Given the description of an element on the screen output the (x, y) to click on. 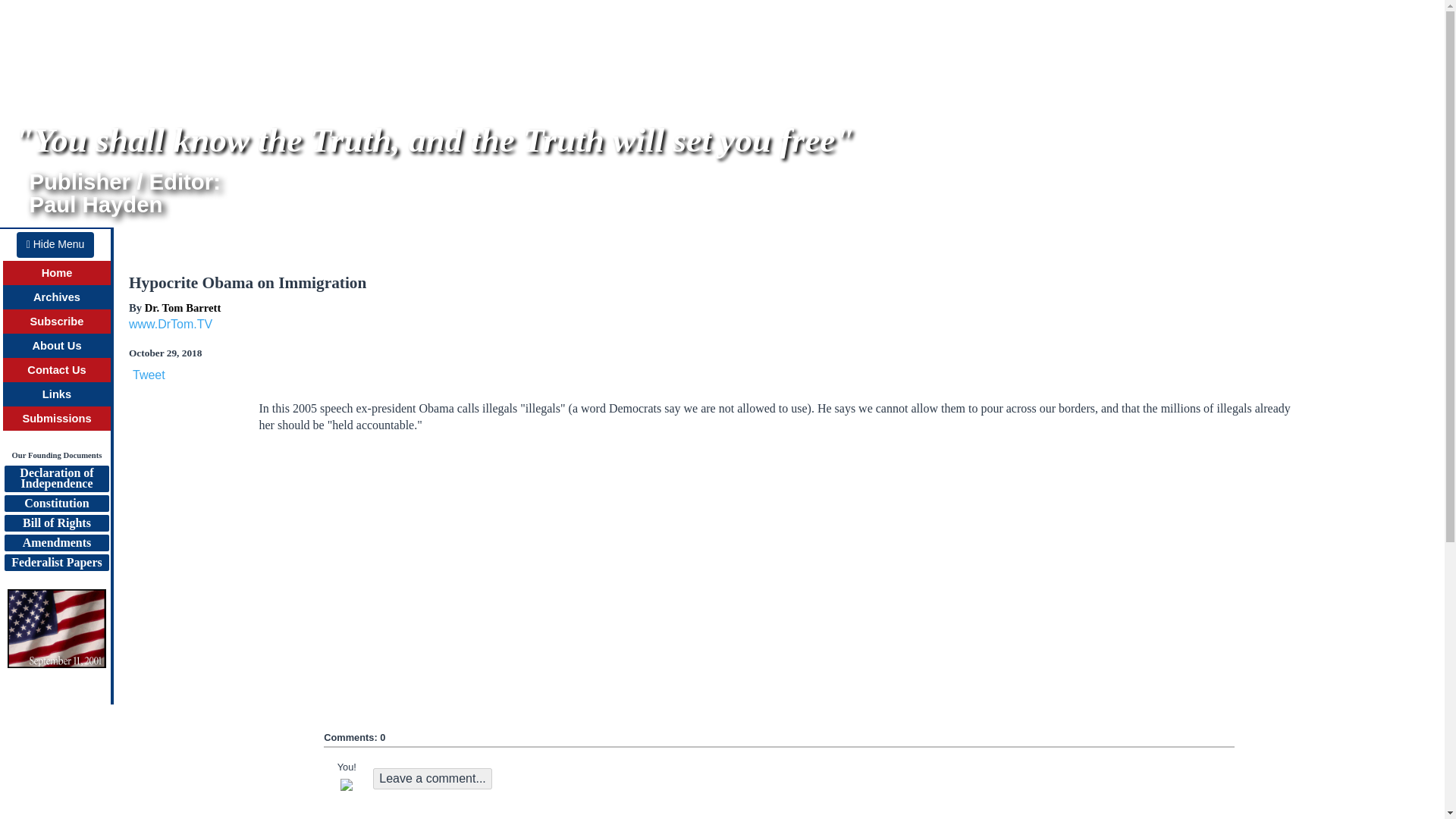
Amendments (56, 542)
Subscribe (57, 321)
www.DrTom.TV (170, 323)
Leave a comment... (432, 778)
Federalist Papers (56, 562)
Dr. Tom Barrett (182, 307)
Contact Us (56, 369)
Home (57, 272)
Submissions (55, 418)
Bill of Rights (56, 479)
Hide Menu (56, 523)
Links (55, 244)
Read more by Dr. Tom Barrett (56, 394)
